Given the description of an element on the screen output the (x, y) to click on. 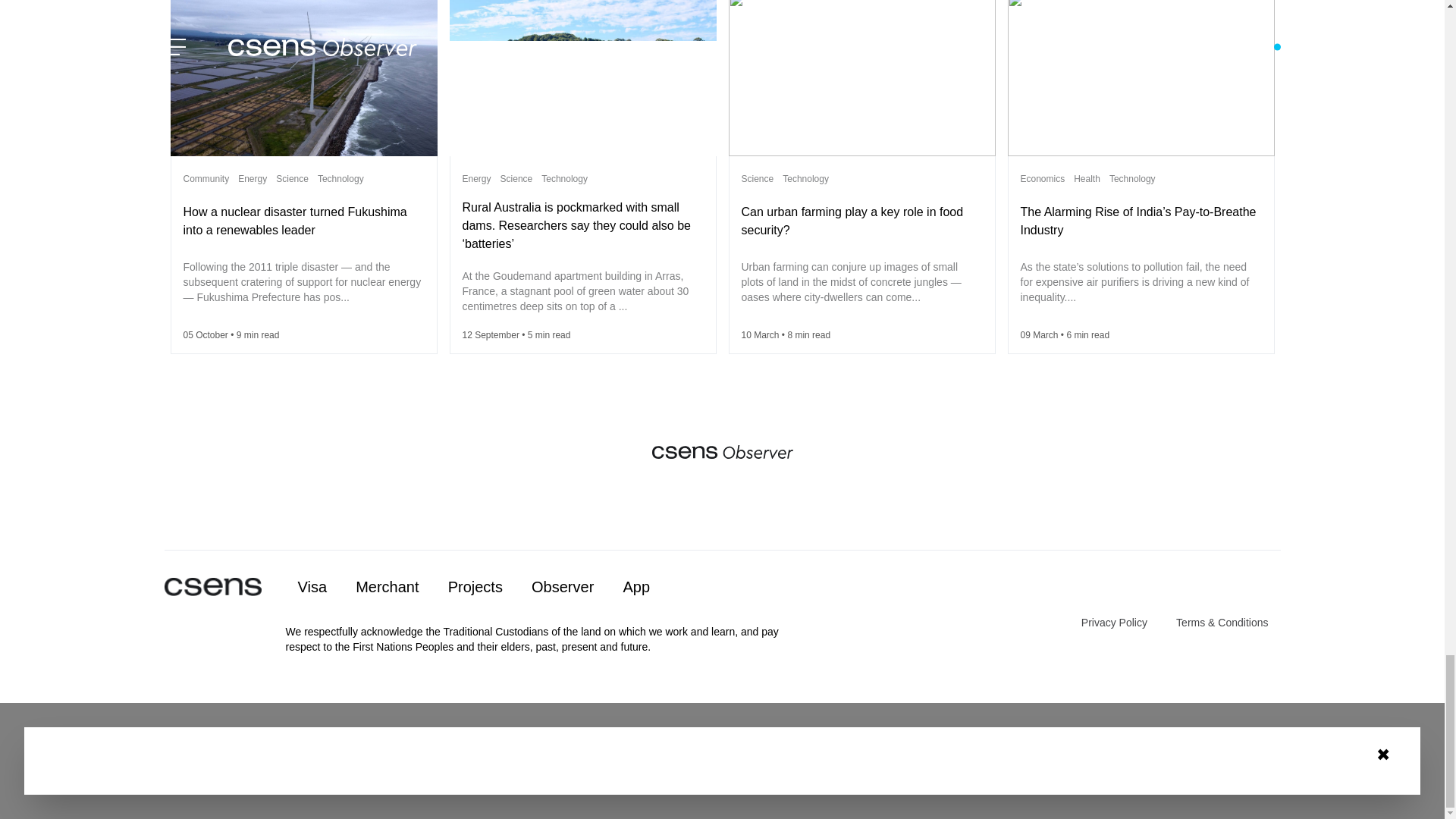
Community (206, 178)
Energy (477, 178)
Technology (805, 178)
Science (292, 178)
Can urban farming play a key role in food security? (852, 220)
Science (757, 178)
Technology (340, 178)
Technology (1132, 178)
Health (1087, 178)
Economics (1042, 178)
